Given the description of an element on the screen output the (x, y) to click on. 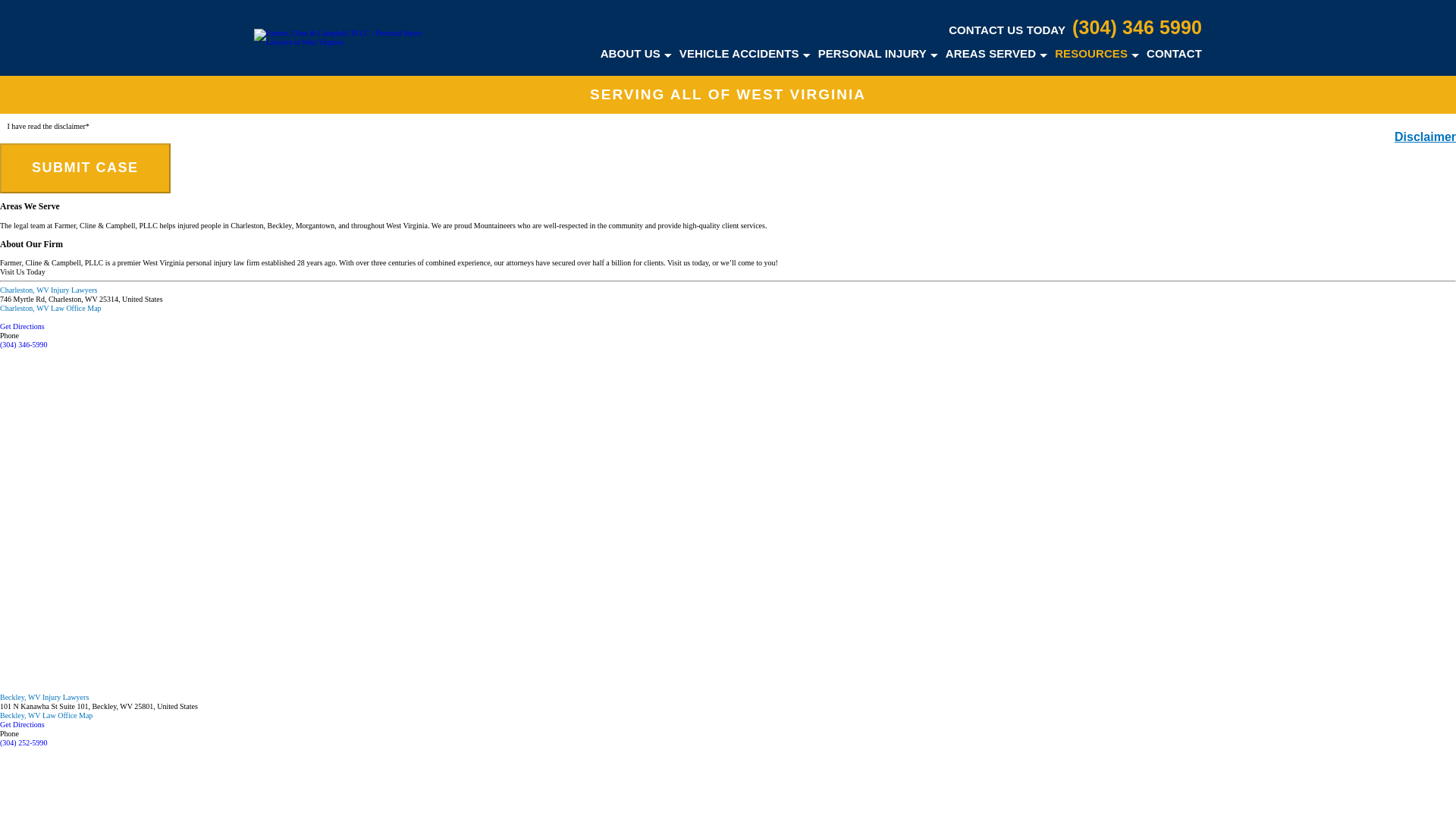
Submit Case (85, 168)
